Given the description of an element on the screen output the (x, y) to click on. 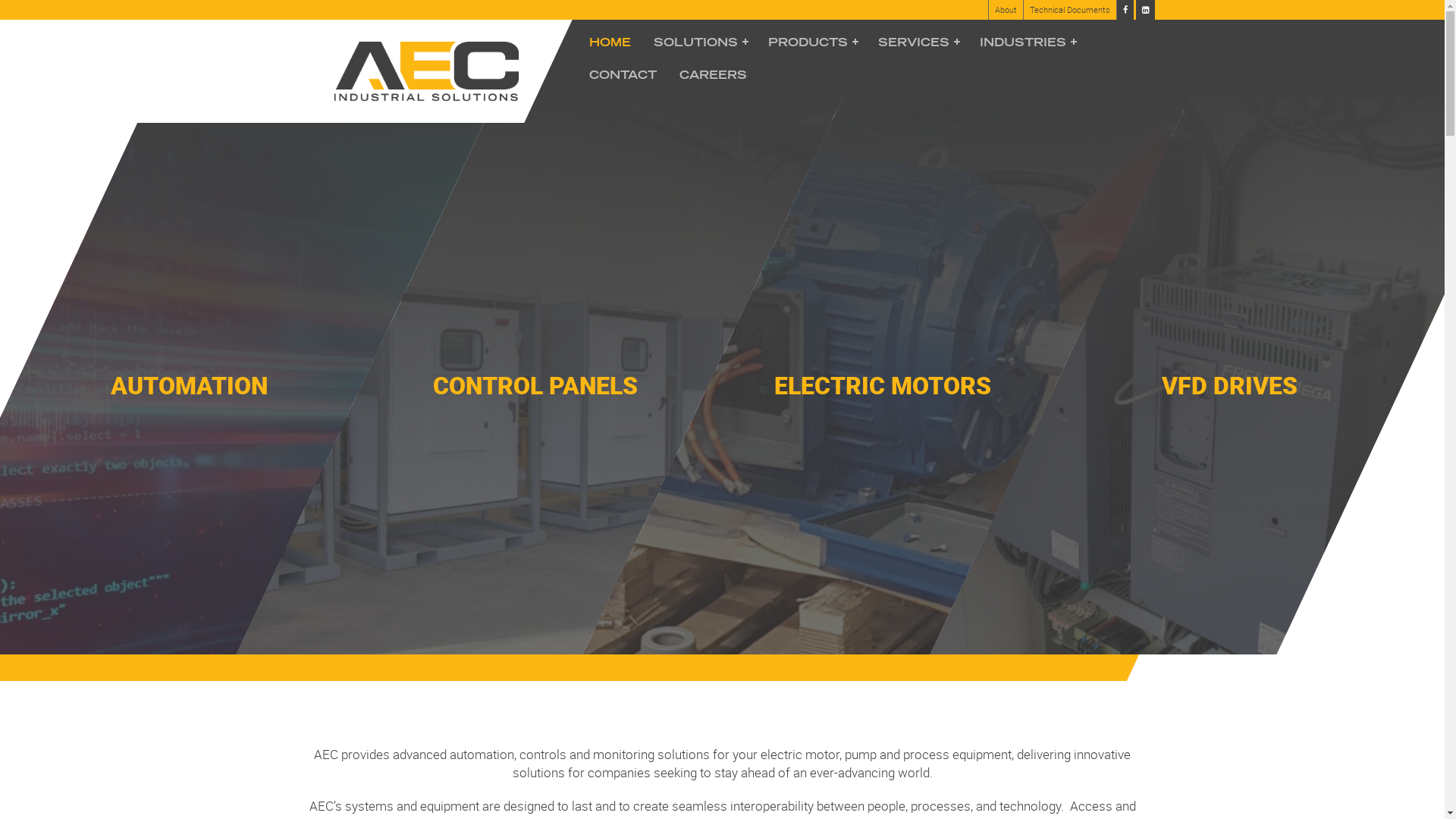
VFD DRIVES Element type: text (1242, 8)
INDUSTRIES Element type: text (1025, 41)
ELECTRIC MOTORS Element type: text (894, 8)
PRODUCTS Element type: text (811, 41)
LinkedIn Element type: hover (1145, 10)
SERVICES Element type: text (916, 41)
HOME Element type: text (609, 41)
CONTACT Element type: text (622, 74)
CONTROL PANELS Element type: text (548, 8)
Facebook Element type: hover (1124, 10)
SOLUTIONS Element type: text (698, 41)
CAREERS Element type: text (712, 74)
AUTOMATION Element type: text (201, 8)
